Given the description of an element on the screen output the (x, y) to click on. 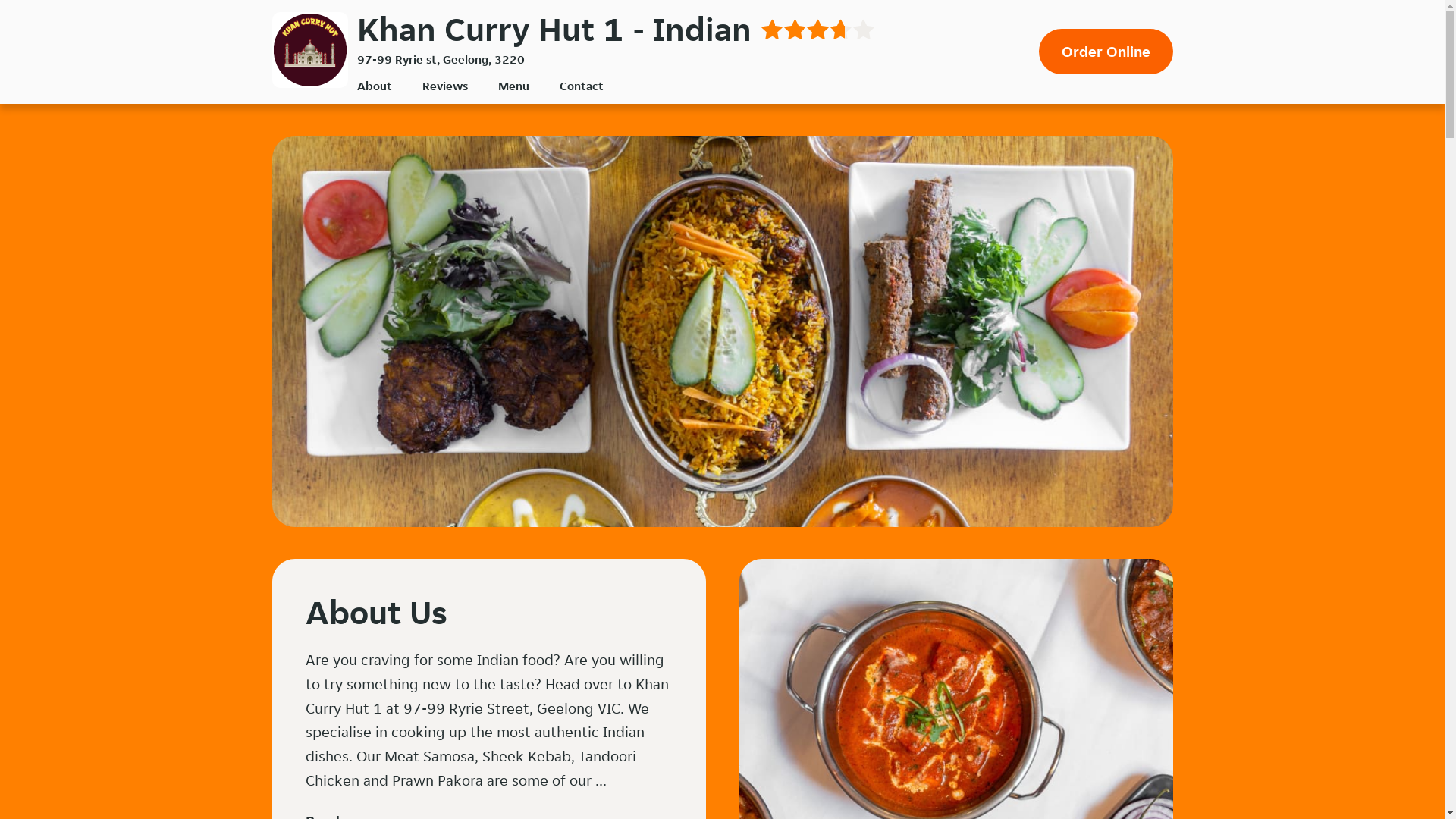
Khan Curry Hut 1 Element type: hover (309, 49)
About Element type: text (373, 86)
Menu Element type: text (512, 86)
Contact Element type: text (581, 86)
Reviews Element type: text (444, 86)
Order Online Element type: text (1105, 51)
